Given the description of an element on the screen output the (x, y) to click on. 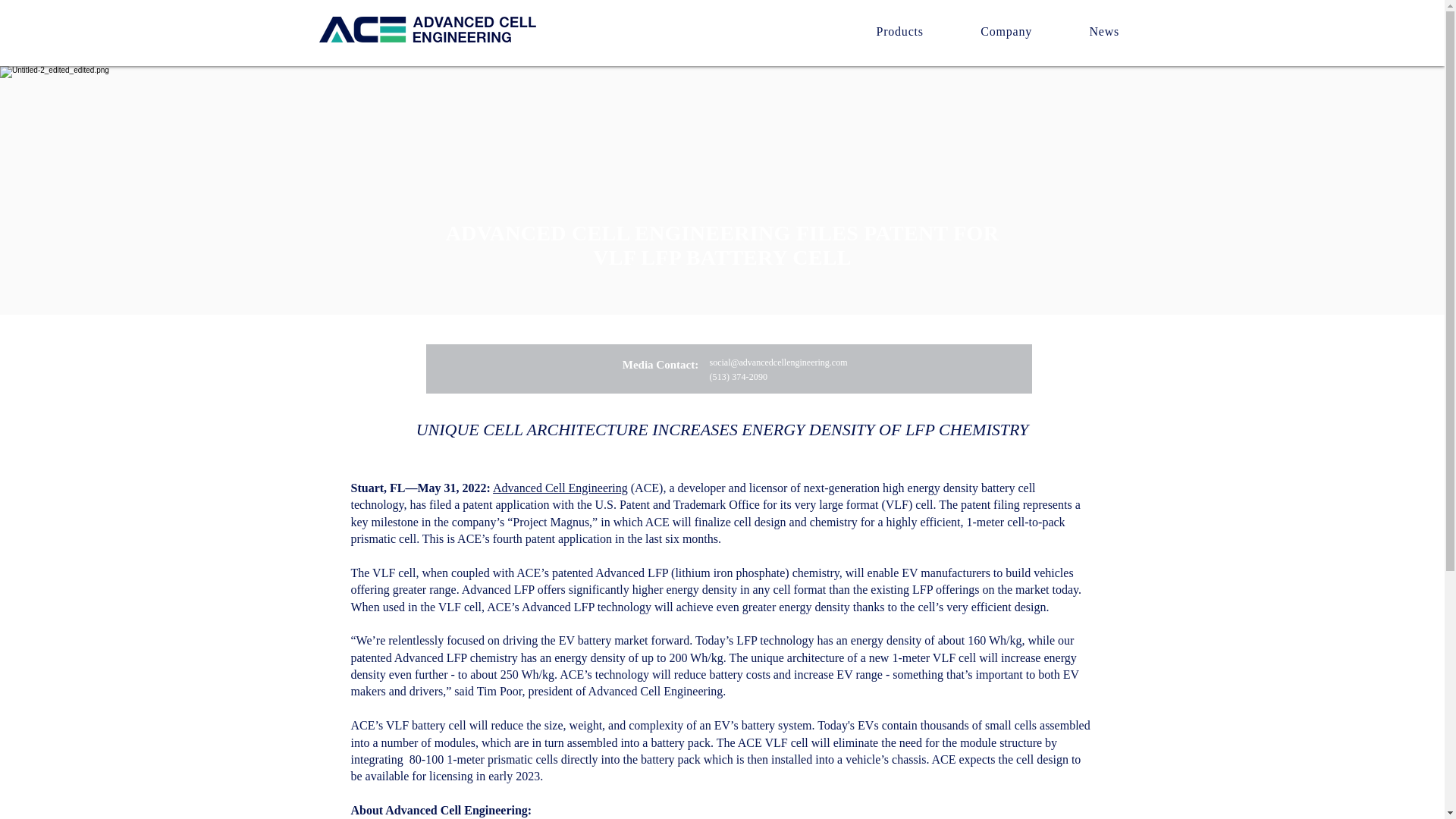
Company (1006, 31)
Products (899, 31)
News (1104, 31)
Advanced Cell Engineering (560, 487)
